Given the description of an element on the screen output the (x, y) to click on. 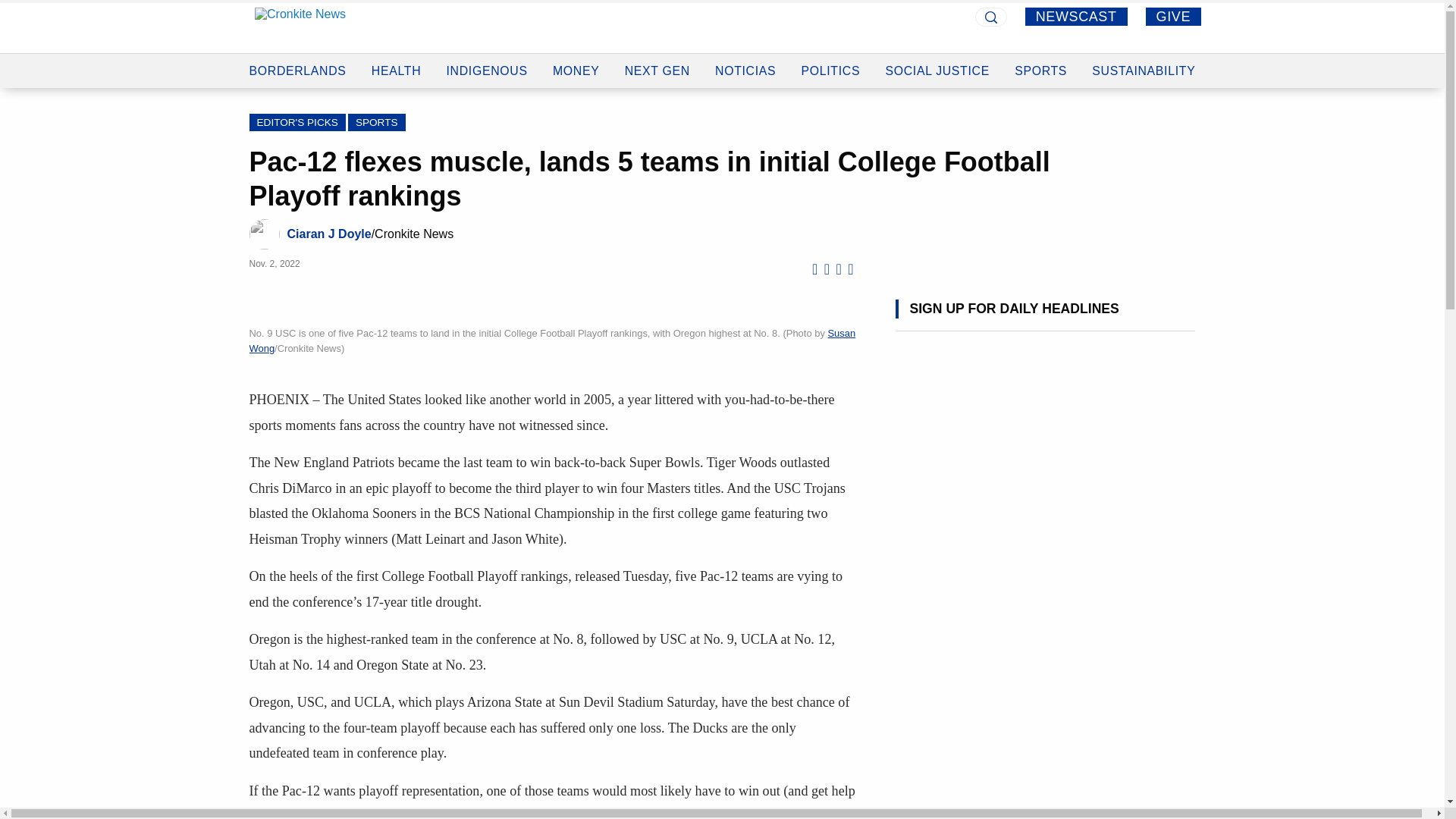
NOTICIAS (745, 60)
INDIGENOUS (486, 52)
Cronkite News (300, 26)
POLITICS (831, 61)
SPORTS (376, 122)
NEWSCAST (1075, 16)
NEXT GEN (657, 56)
EDITOR'S PICKS (296, 122)
BORDERLANDS (297, 46)
Susan Wong (552, 340)
